Given the description of an element on the screen output the (x, y) to click on. 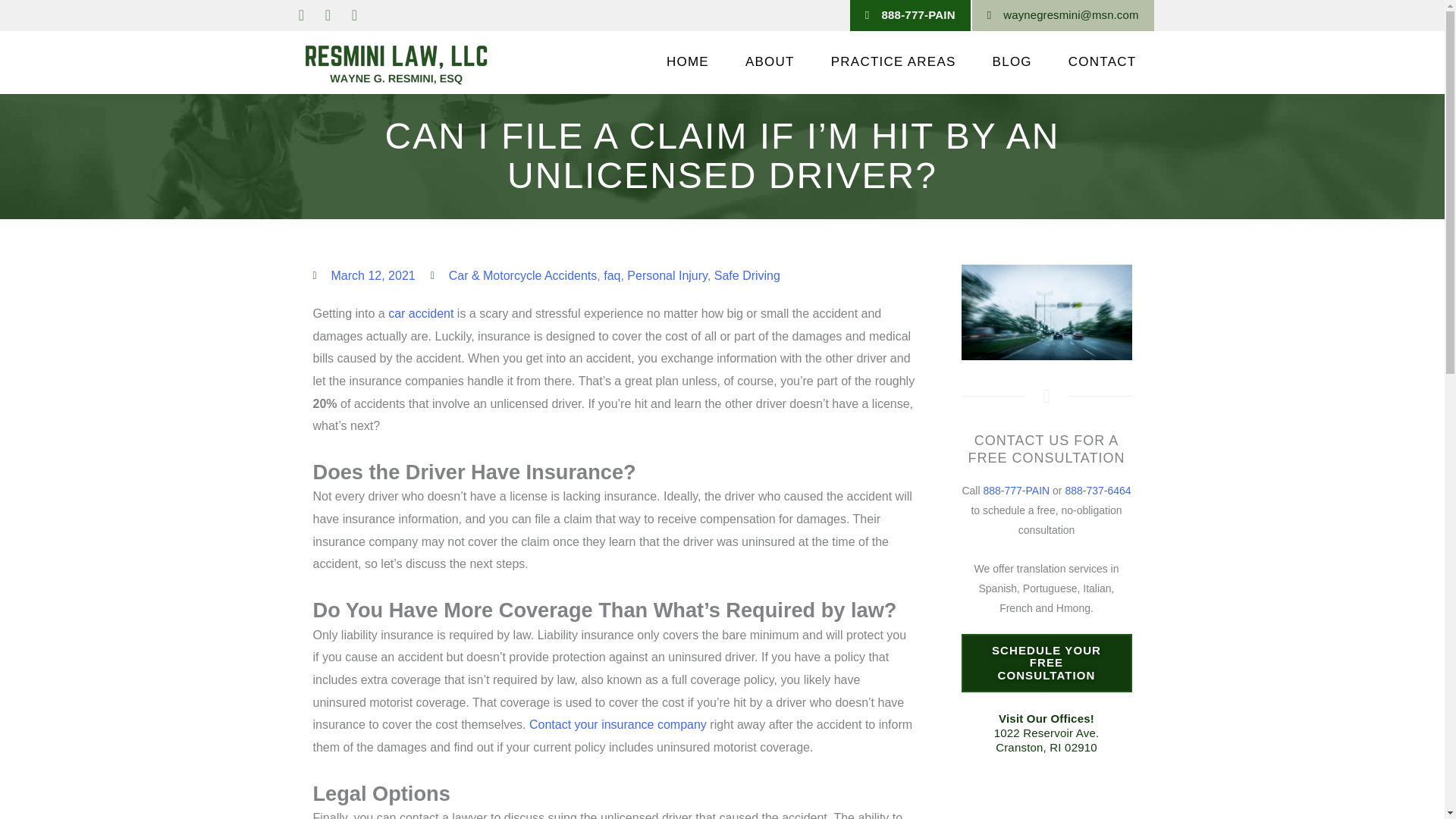
PRACTICE AREAS (893, 61)
888-777-PAIN (910, 15)
HOME (686, 61)
ABOUT (769, 61)
